Given the description of an element on the screen output the (x, y) to click on. 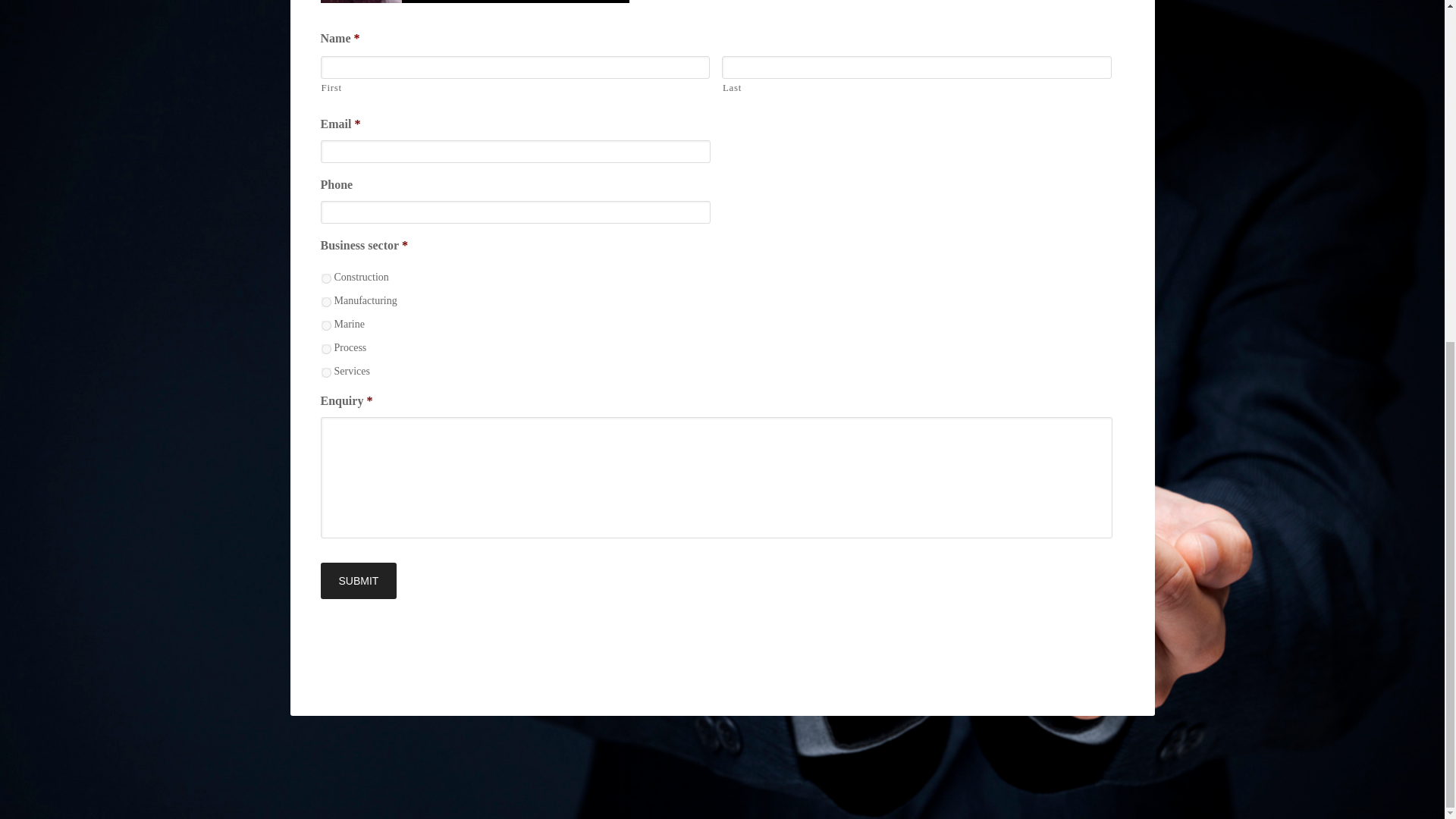
Submit (358, 580)
Marine (326, 325)
Construction (326, 278)
Process (326, 348)
Submit (358, 580)
Manufacturing (326, 302)
Services (326, 372)
